Given the description of an element on the screen output the (x, y) to click on. 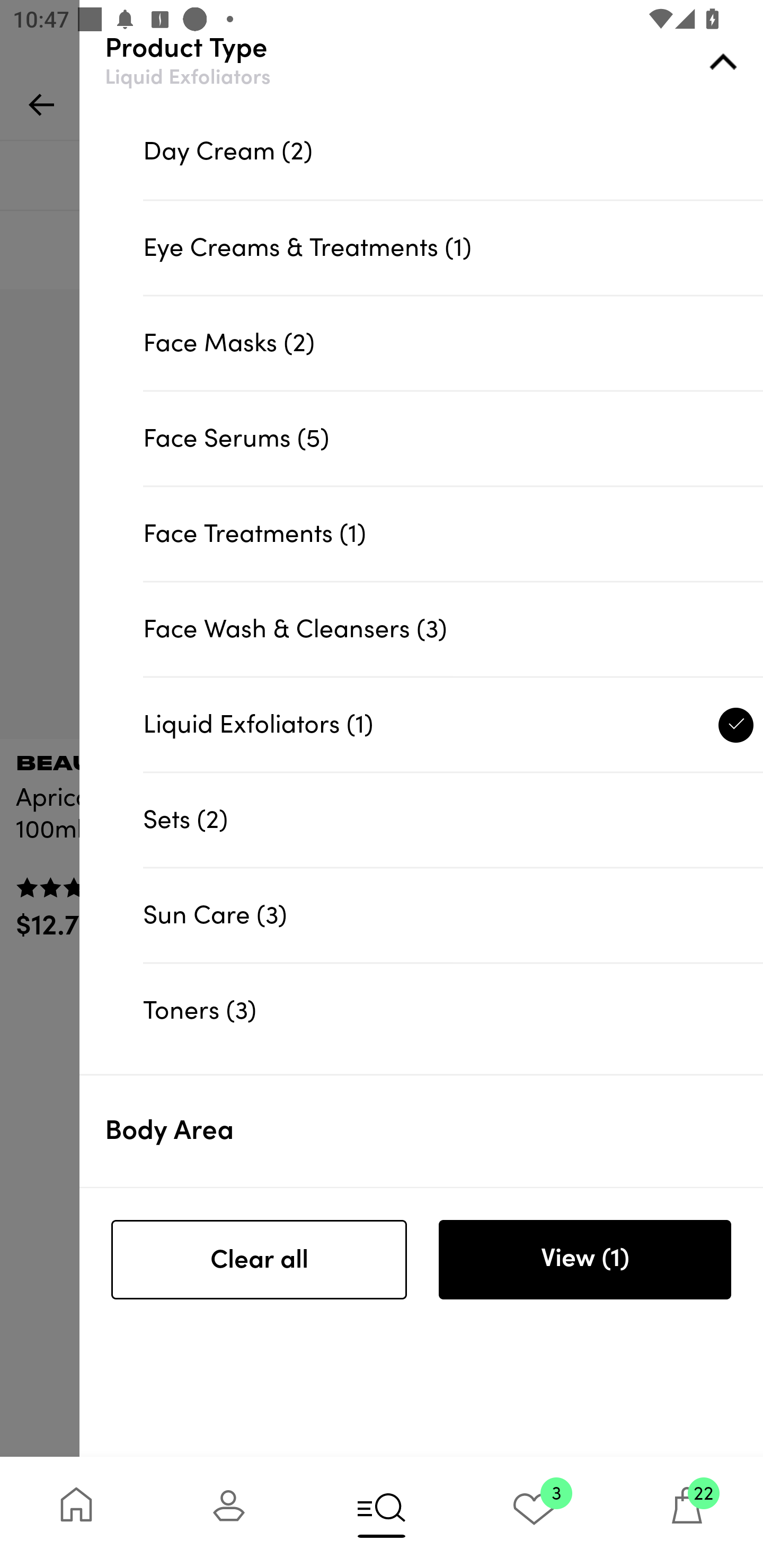
Day Cream (2) (453, 152)
Eye Creams & Treatments (1) (453, 246)
Face Masks (2) (453, 342)
Face Serums (5) (453, 438)
Face Treatments (1) (453, 533)
Face Wash & Cleansers (3) (453, 628)
Liquid Exfoliators (1)  (453, 723)
Sets (2) (453, 819)
Sun Care (3) (453, 914)
Toners (3) (453, 1010)
Body Area (434, 1130)
Clear all (258, 1259)
View (1) (584, 1259)
3 (533, 1512)
22 (686, 1512)
